Given the description of an element on the screen output the (x, y) to click on. 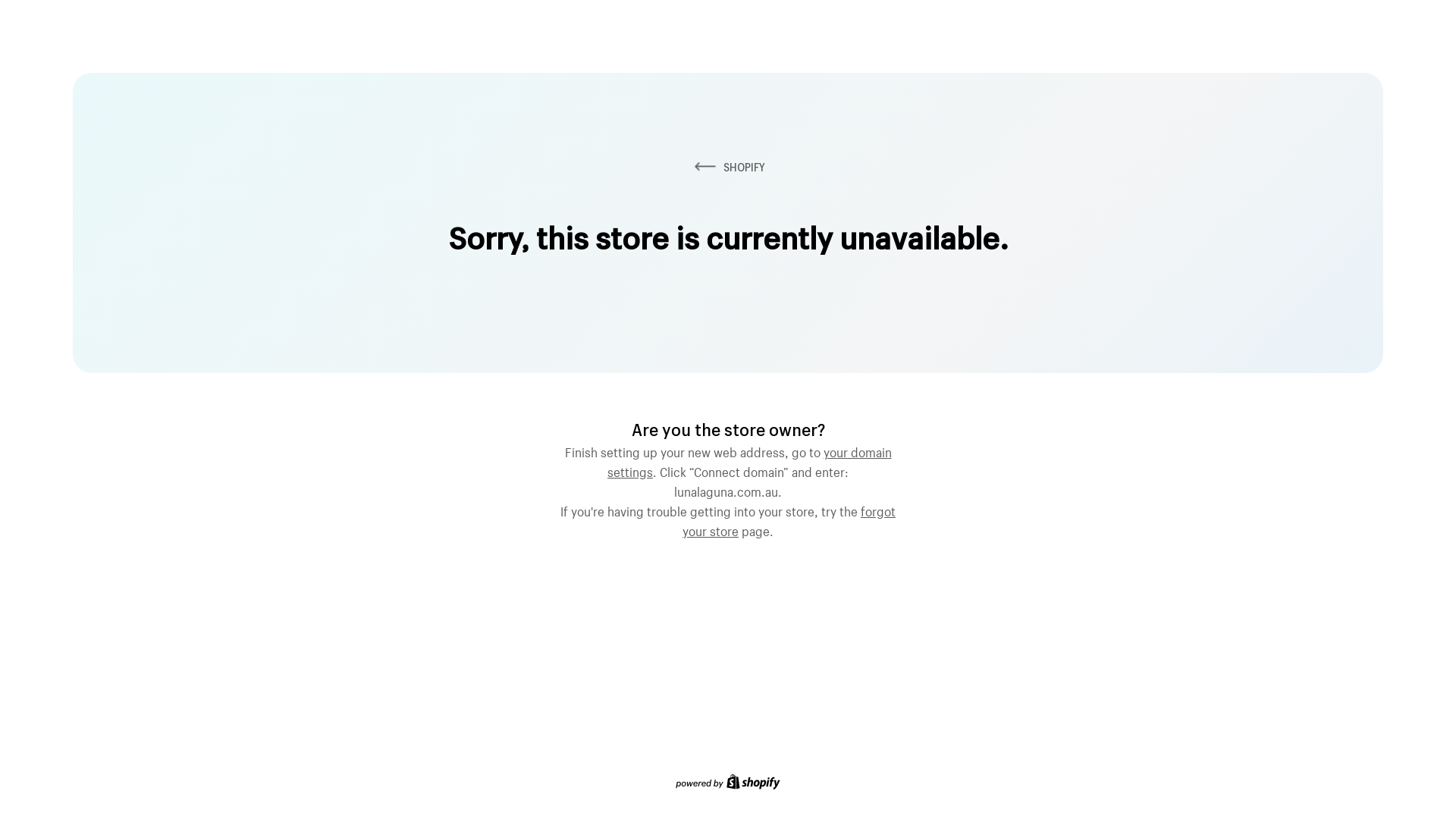
your domain settings Element type: text (749, 460)
forgot your store Element type: text (788, 519)
SHOPIFY Element type: text (727, 167)
